Given the description of an element on the screen output the (x, y) to click on. 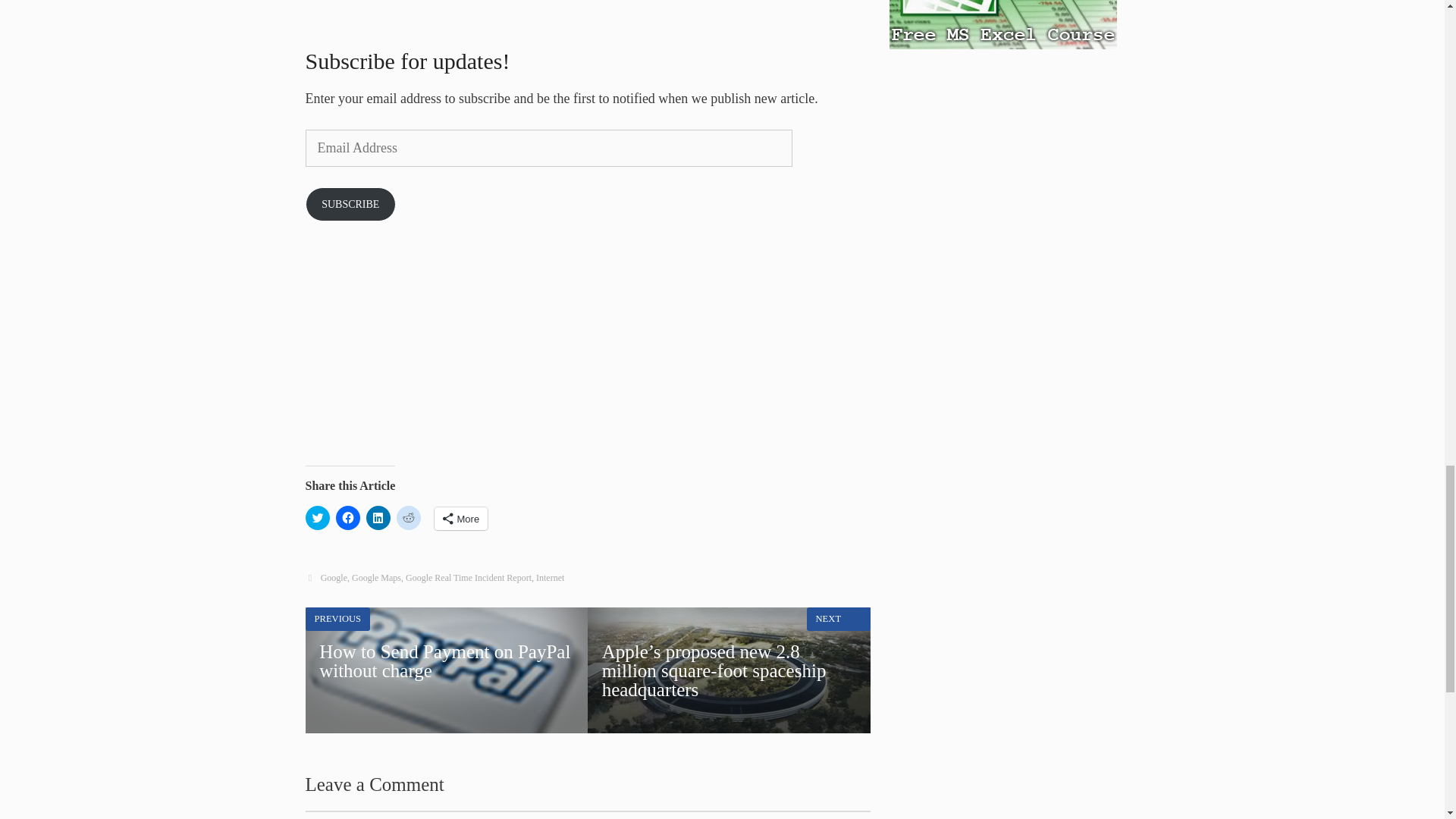
Google (333, 577)
Google Real Time Incident Report (468, 577)
Click to share on Twitter (316, 517)
Click to share on LinkedIn (377, 517)
Advertisement (532, 357)
Internet (446, 670)
SUBSCRIBE (549, 577)
Click to share on Facebook (350, 204)
More (346, 517)
Google Maps (460, 517)
Click to share on Reddit (376, 577)
